Given the description of an element on the screen output the (x, y) to click on. 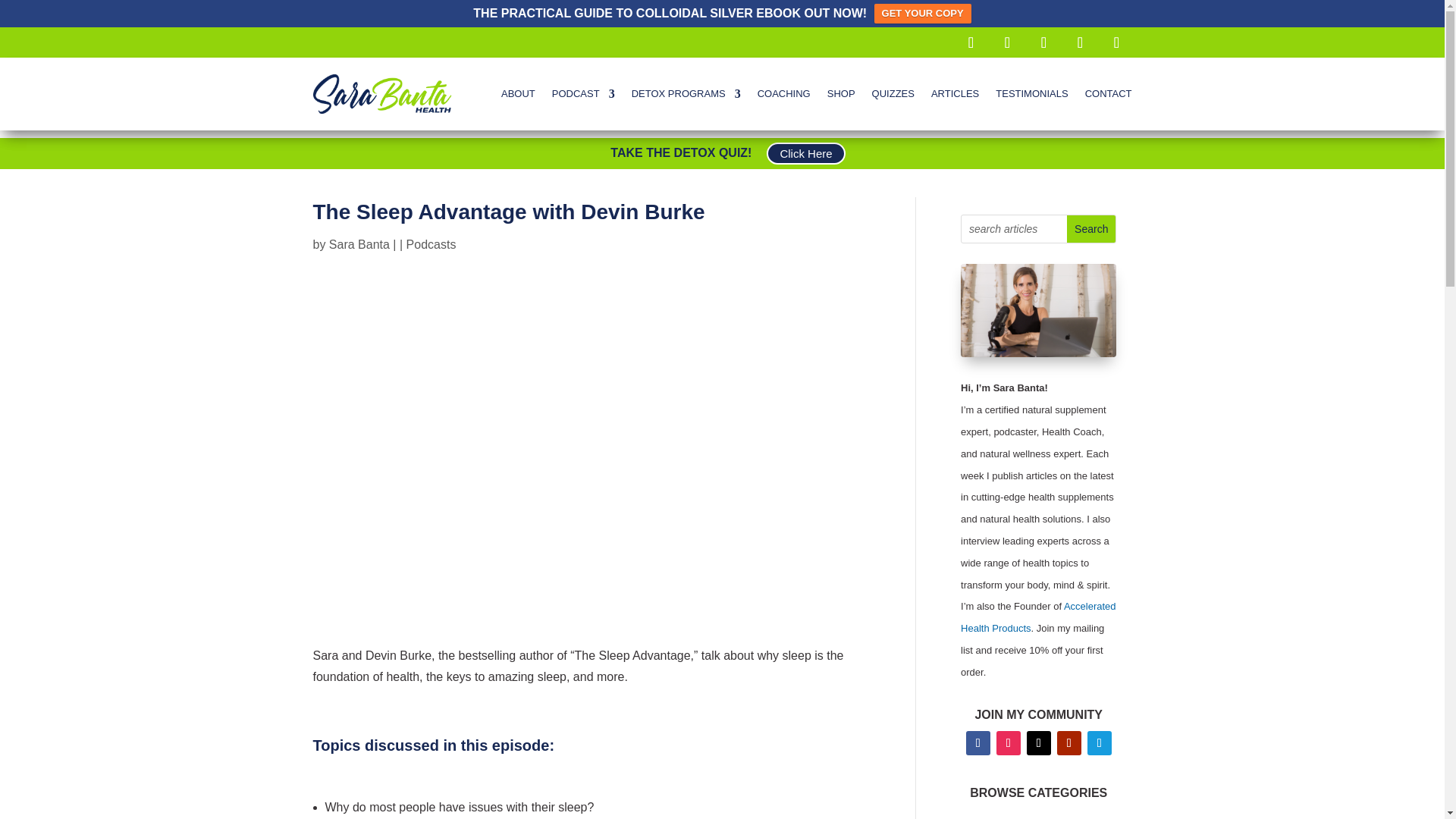
Follow on Youtube (1069, 743)
Follow on Youtube (1042, 42)
PODCAST (582, 93)
Follow on Facebook (978, 743)
TESTIMONIALS (1031, 93)
DETOX PROGRAMS (686, 93)
GET YOUR COPY (923, 13)
Follow on X (1038, 743)
Follow on Telegram (1099, 743)
Search (1091, 228)
Follow on Instagram (1006, 42)
Follow on Facebook (970, 42)
Search (1091, 228)
Follow on X (1115, 42)
